Given the description of an element on the screen output the (x, y) to click on. 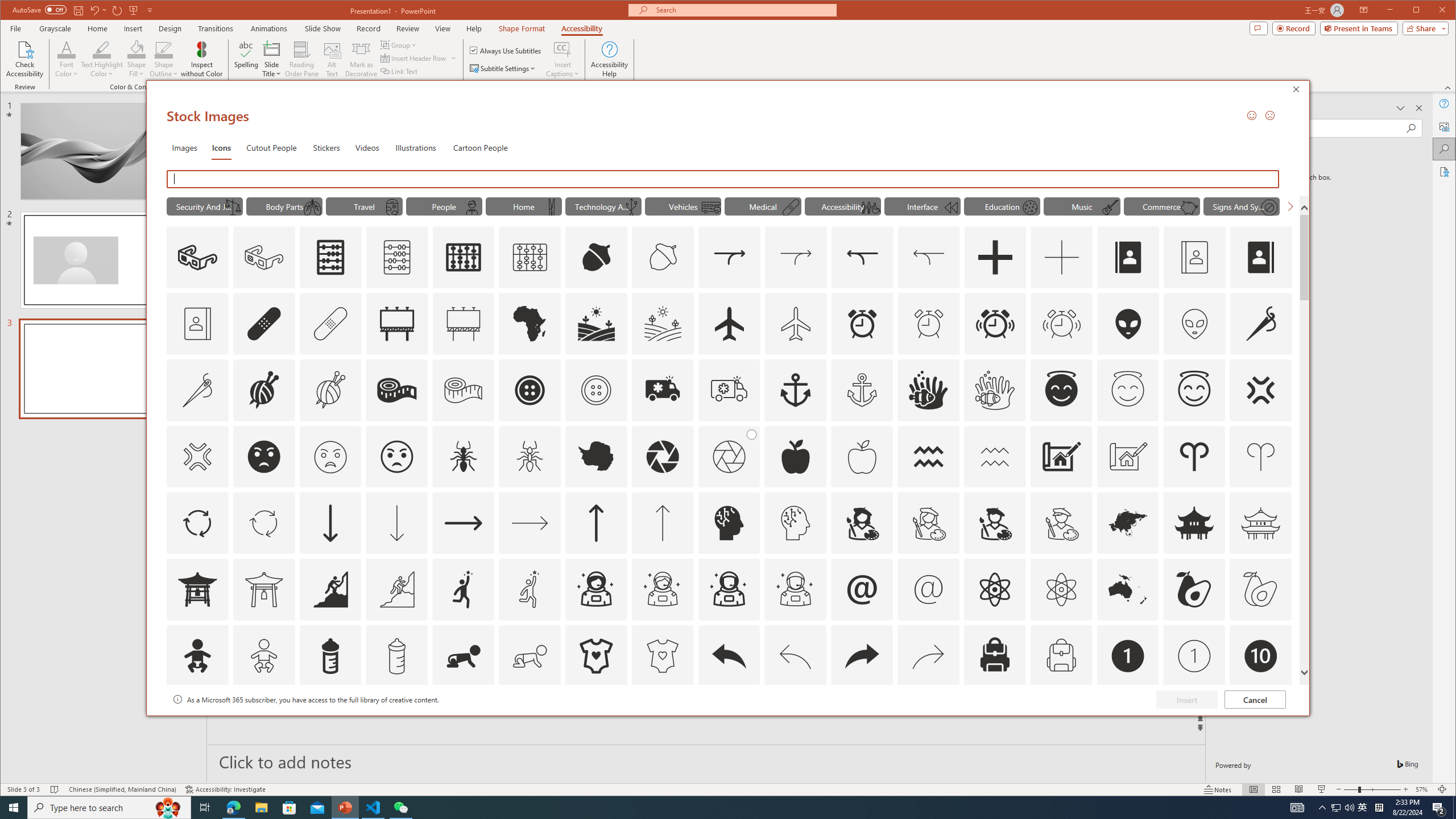
Check Accessibility (25, 59)
AutomationID: Icons_Aspiration (330, 589)
AutomationID: Icons_ArrowDown (330, 522)
AutomationID: Icons_ArrowUp (595, 522)
Send a Smile (1251, 115)
AutomationID: Icons_3dGlasses (197, 256)
AutomationID: Icons_StopSign_M (1269, 207)
Start (13, 807)
AutomationID: Icons_AlienFace_M (1194, 323)
AutomationID: Icons_Ambulance_M (729, 389)
AutomationID: Icons_Ant (462, 456)
